Given the description of an element on the screen output the (x, y) to click on. 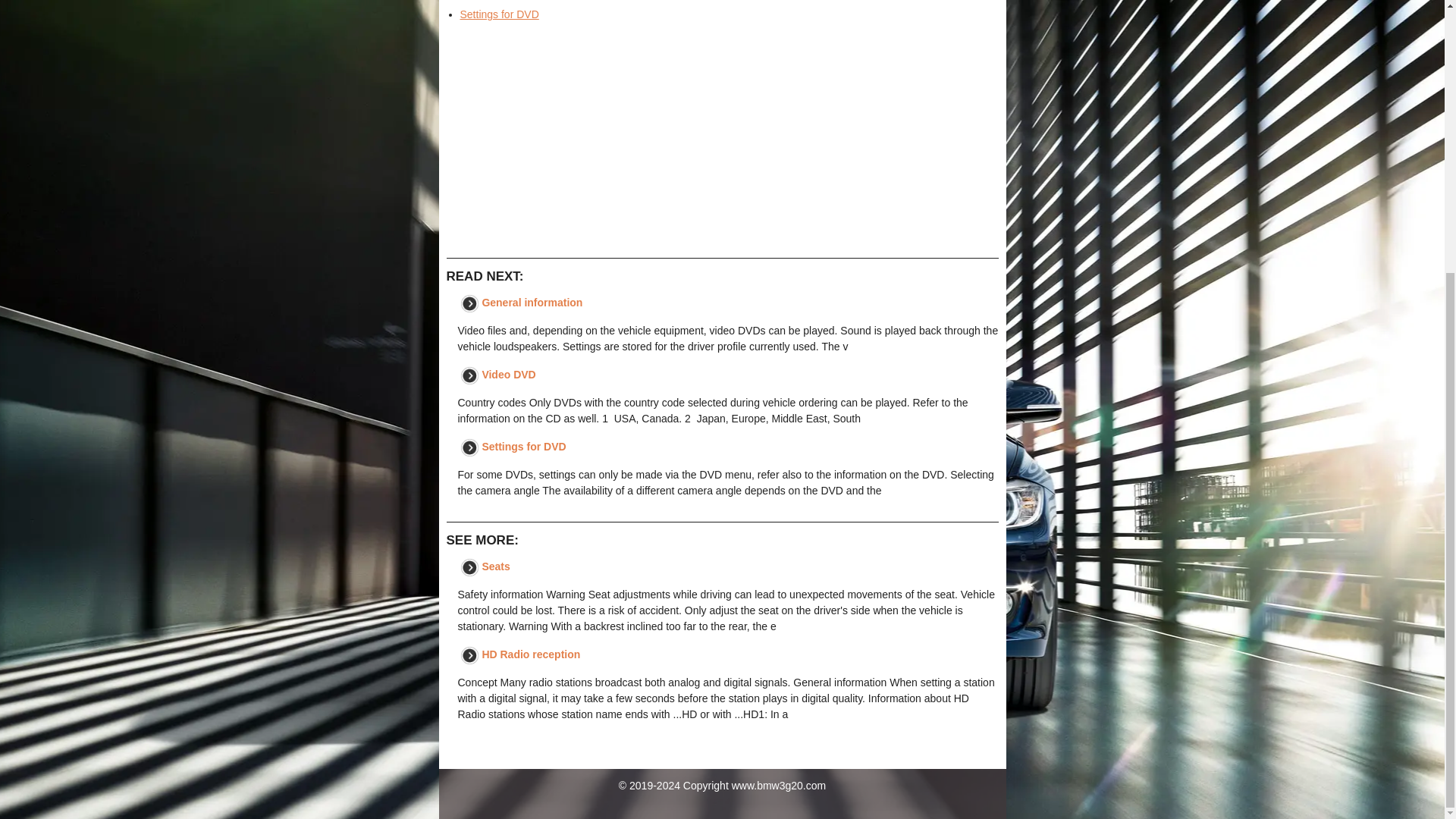
Advertisement (721, 140)
Video DVD (486, 0)
Seats (495, 566)
Settings for DVD (499, 14)
HD Radio reception (530, 654)
General information (531, 302)
Video DVD (508, 374)
Settings for DVD (523, 446)
